Given the description of an element on the screen output the (x, y) to click on. 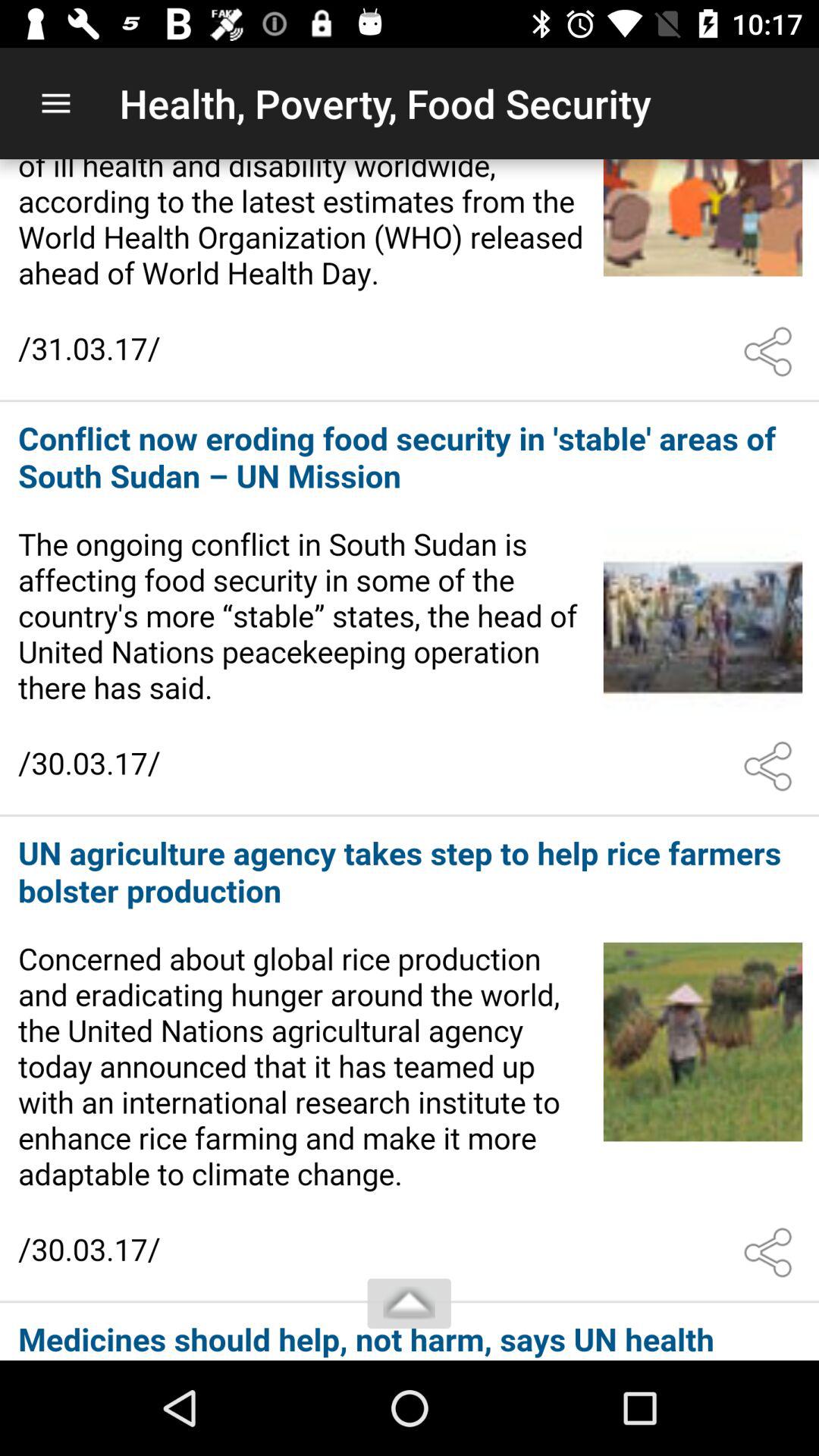
share with others (771, 1252)
